Given the description of an element on the screen output the (x, y) to click on. 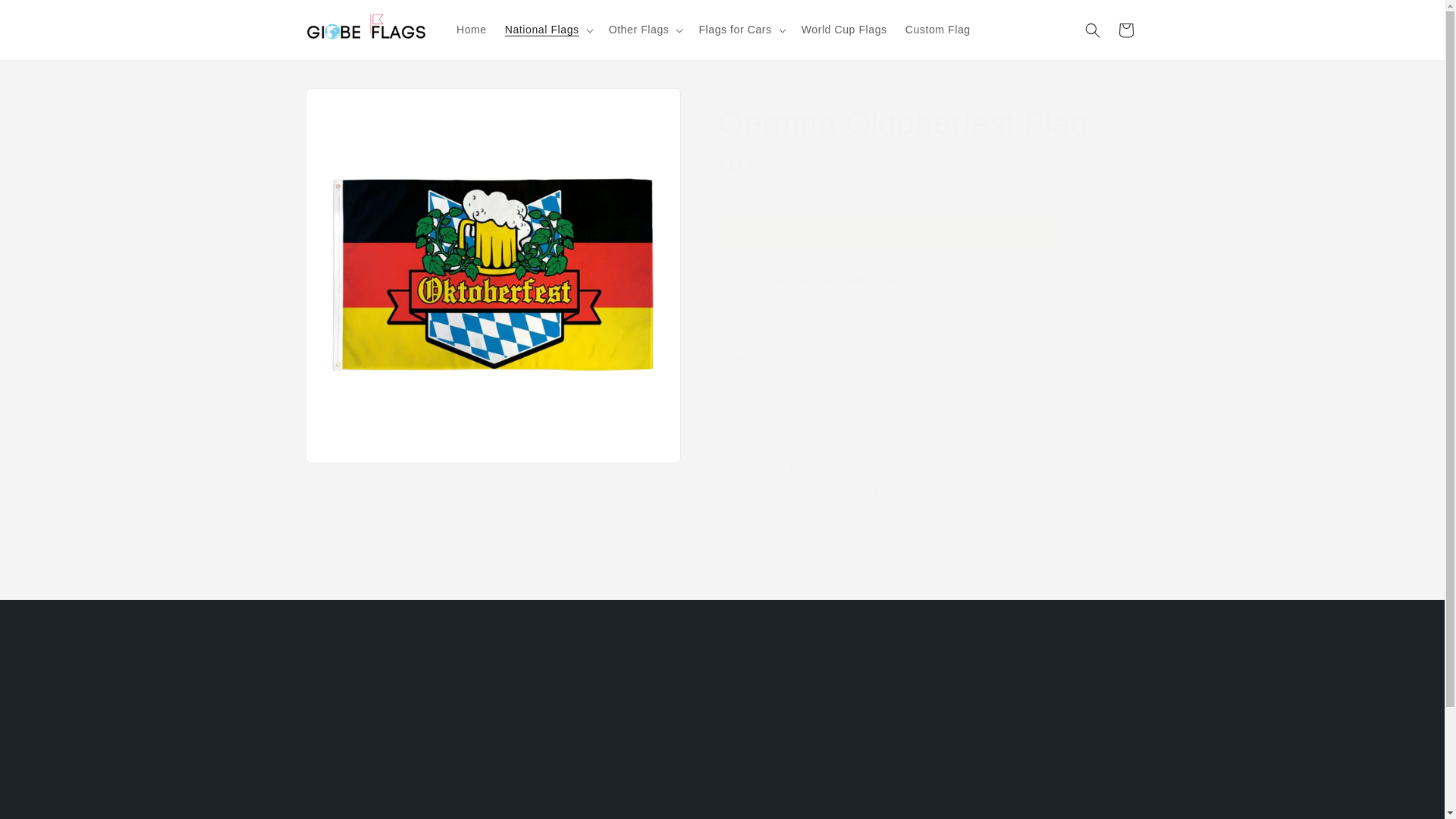
Home (827, 738)
0 (471, 29)
